Given the description of an element on the screen output the (x, y) to click on. 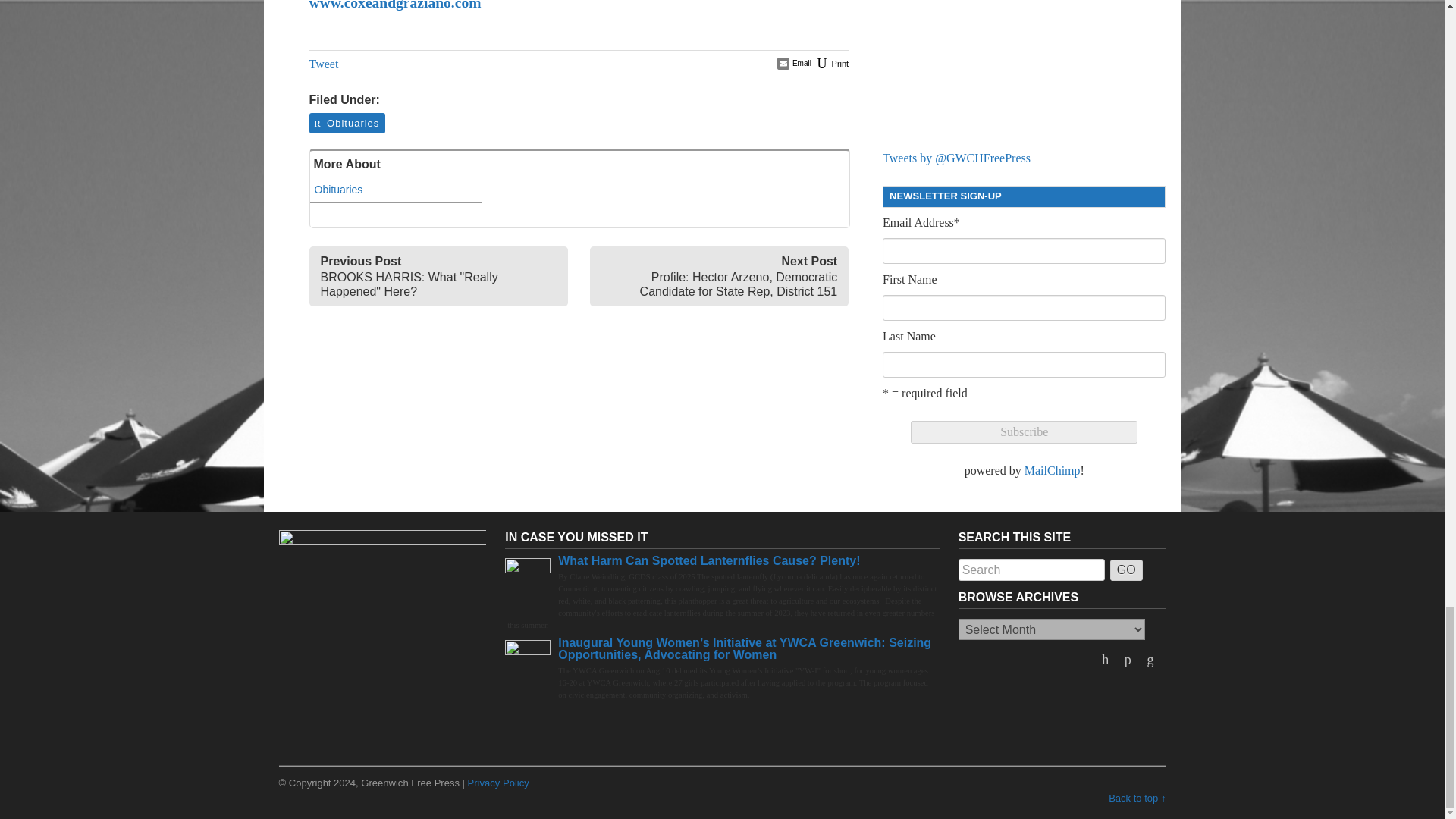
print this article (830, 62)
GO (1125, 569)
Subscribe (1024, 431)
Read Posts in the Obituaries category (345, 122)
GO (1125, 569)
